Given the description of an element on the screen output the (x, y) to click on. 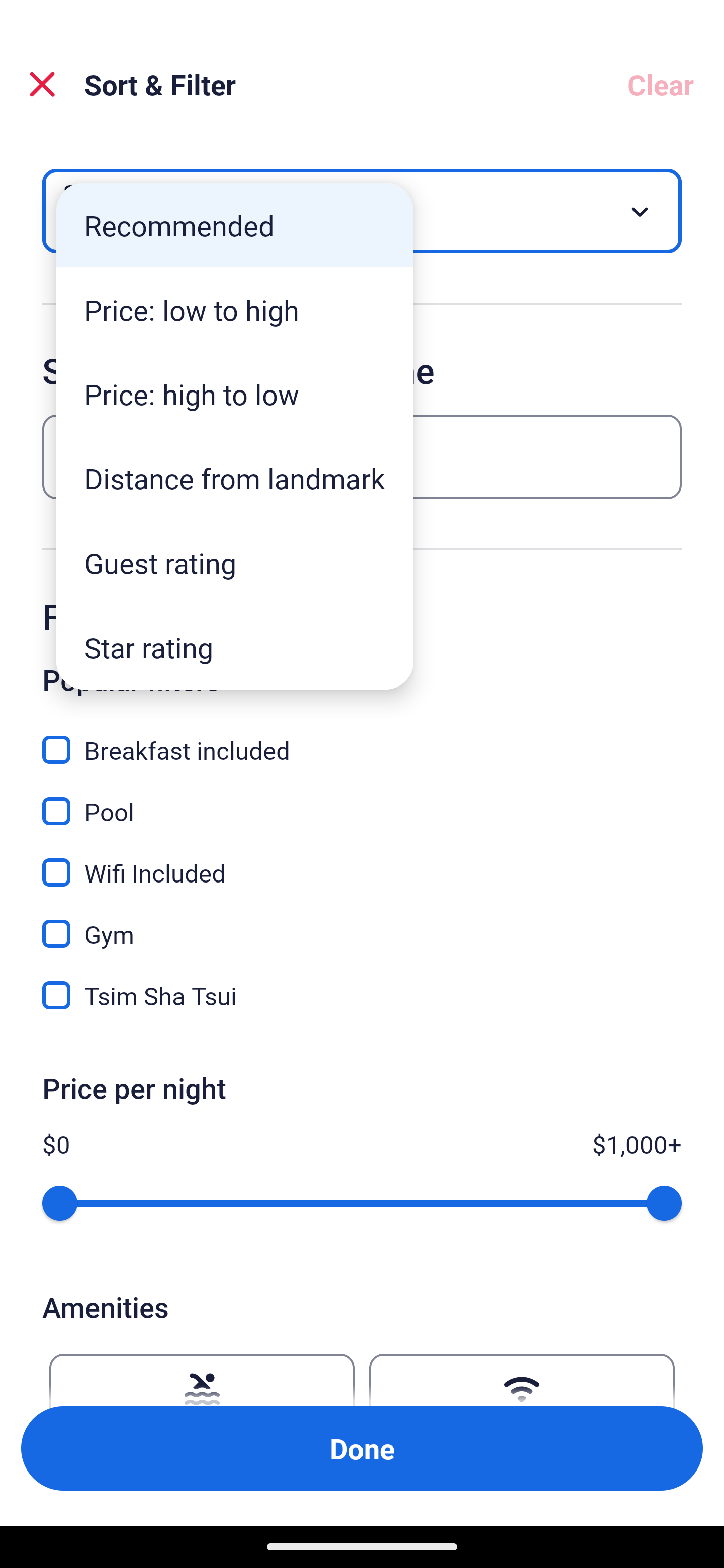
Price: low to high (234, 309)
Price: high to low (234, 393)
Distance from landmark (234, 477)
Guest rating (234, 562)
Star rating (234, 647)
